Given the description of an element on the screen output the (x, y) to click on. 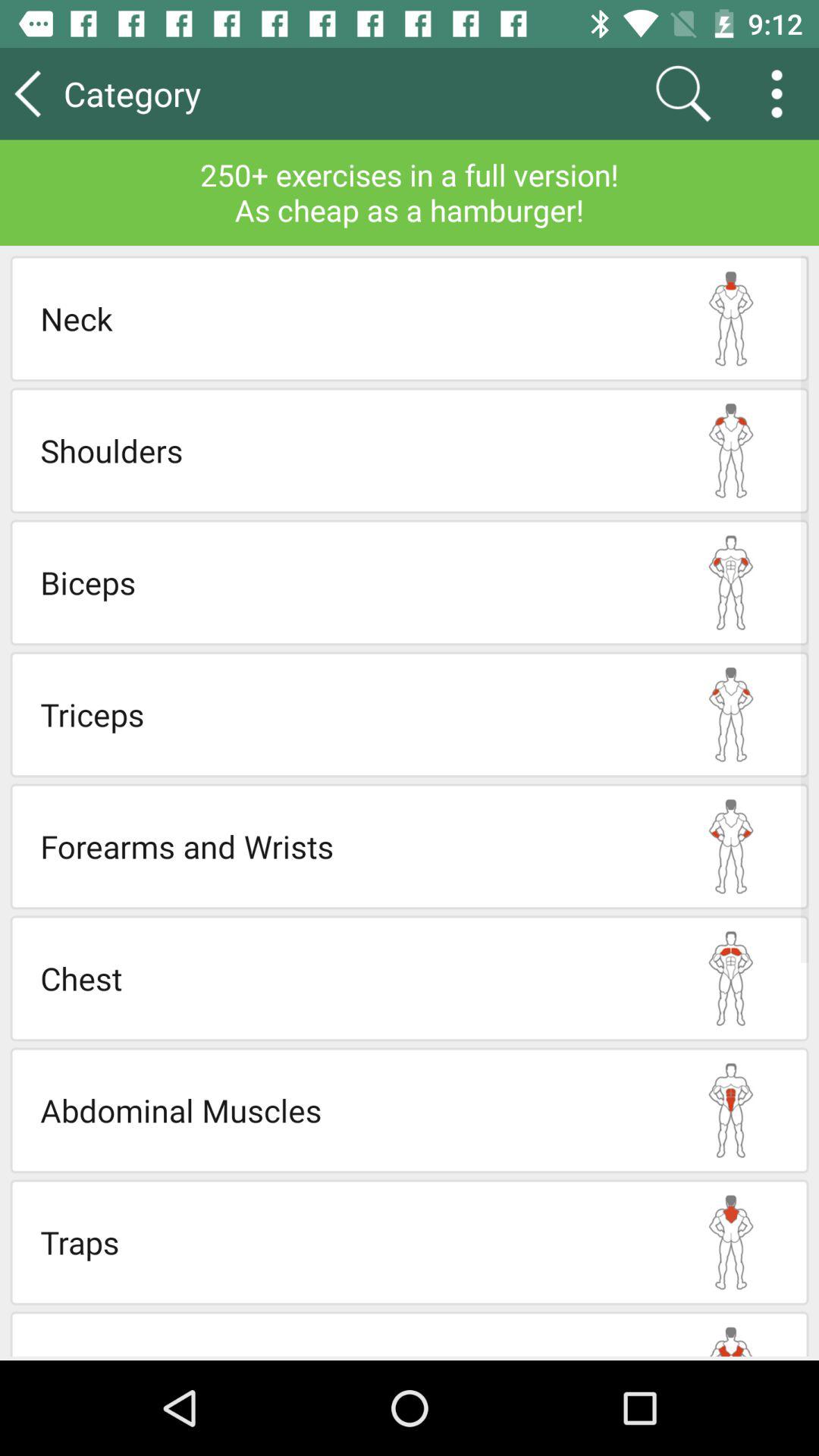
choose category icon (175, 93)
